Given the description of an element on the screen output the (x, y) to click on. 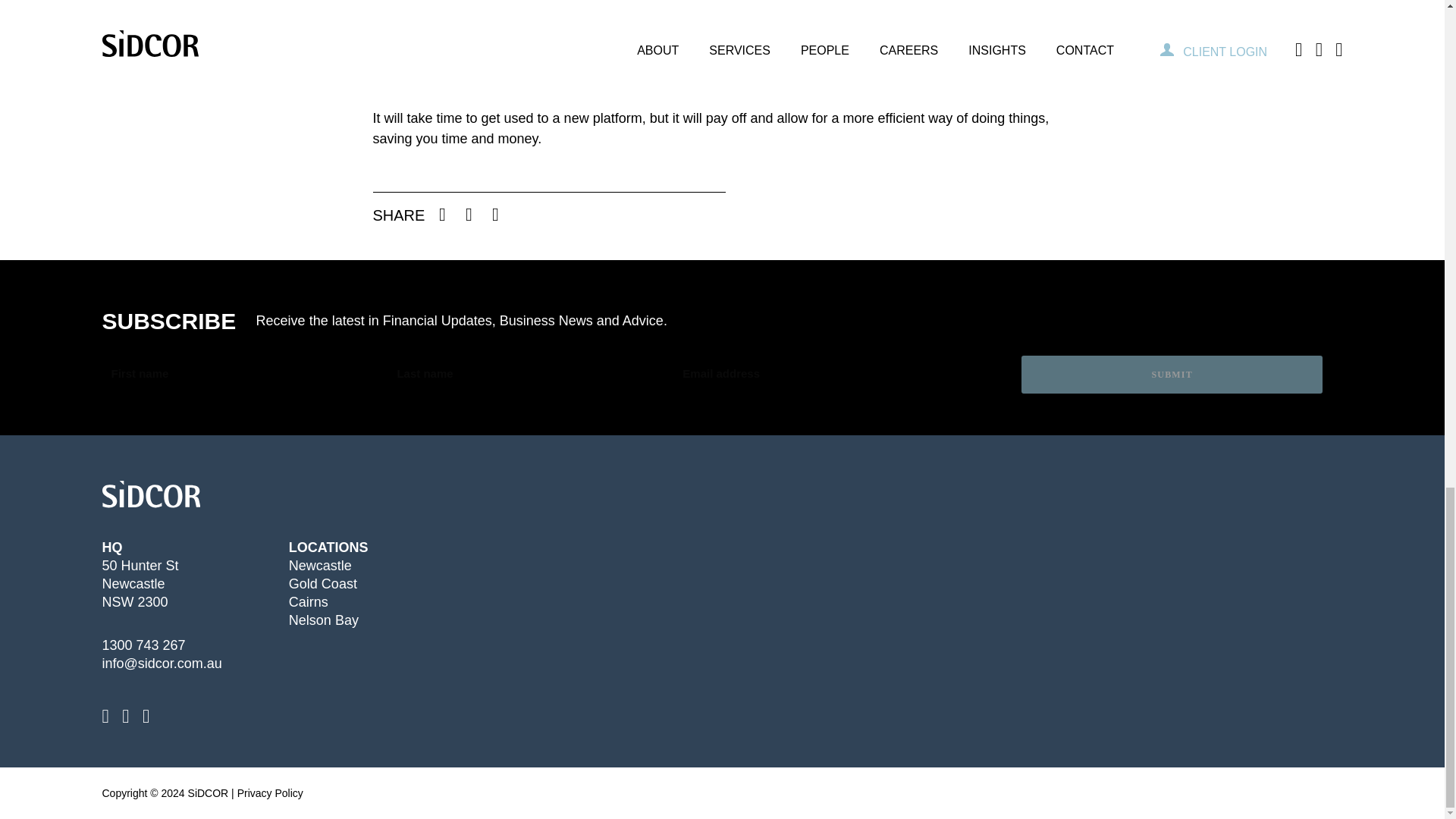
Tweet this (468, 214)
Privacy Policy (269, 793)
Websiet Development by HyperWeb Newcastle (1333, 793)
Submit (1172, 374)
Cairns (308, 601)
Share this (442, 214)
Gold Coast (322, 583)
Newcastle (320, 565)
1300 743 267 (142, 645)
Submit (1172, 374)
